Given the description of an element on the screen output the (x, y) to click on. 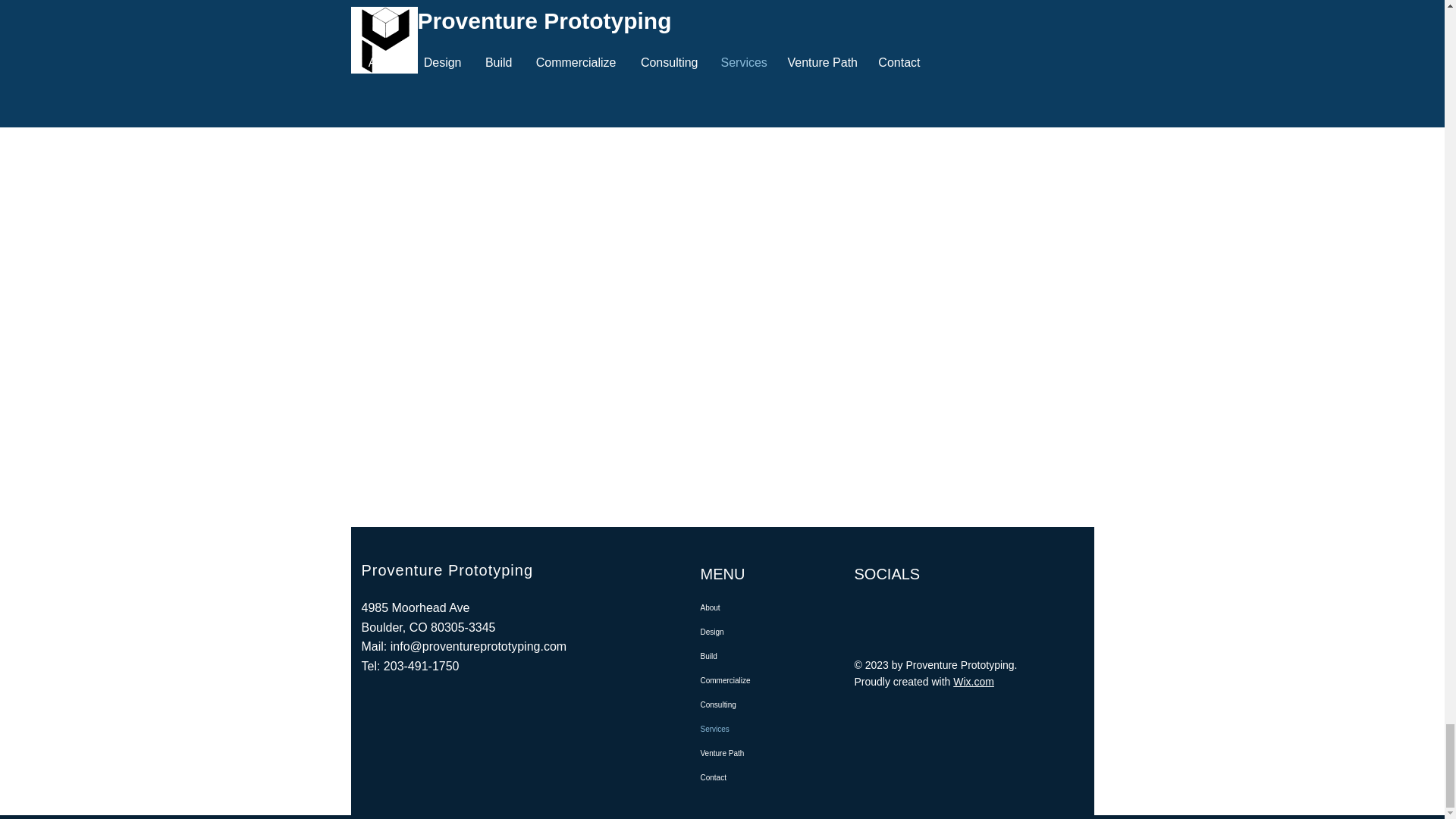
Contact (771, 777)
Wix.com (973, 681)
About (771, 607)
Venture Path (771, 753)
Consulting (771, 704)
Design (771, 631)
Proventure Prototyping (446, 569)
Commercialize (771, 680)
Build (771, 656)
Services (771, 729)
